Given the description of an element on the screen output the (x, y) to click on. 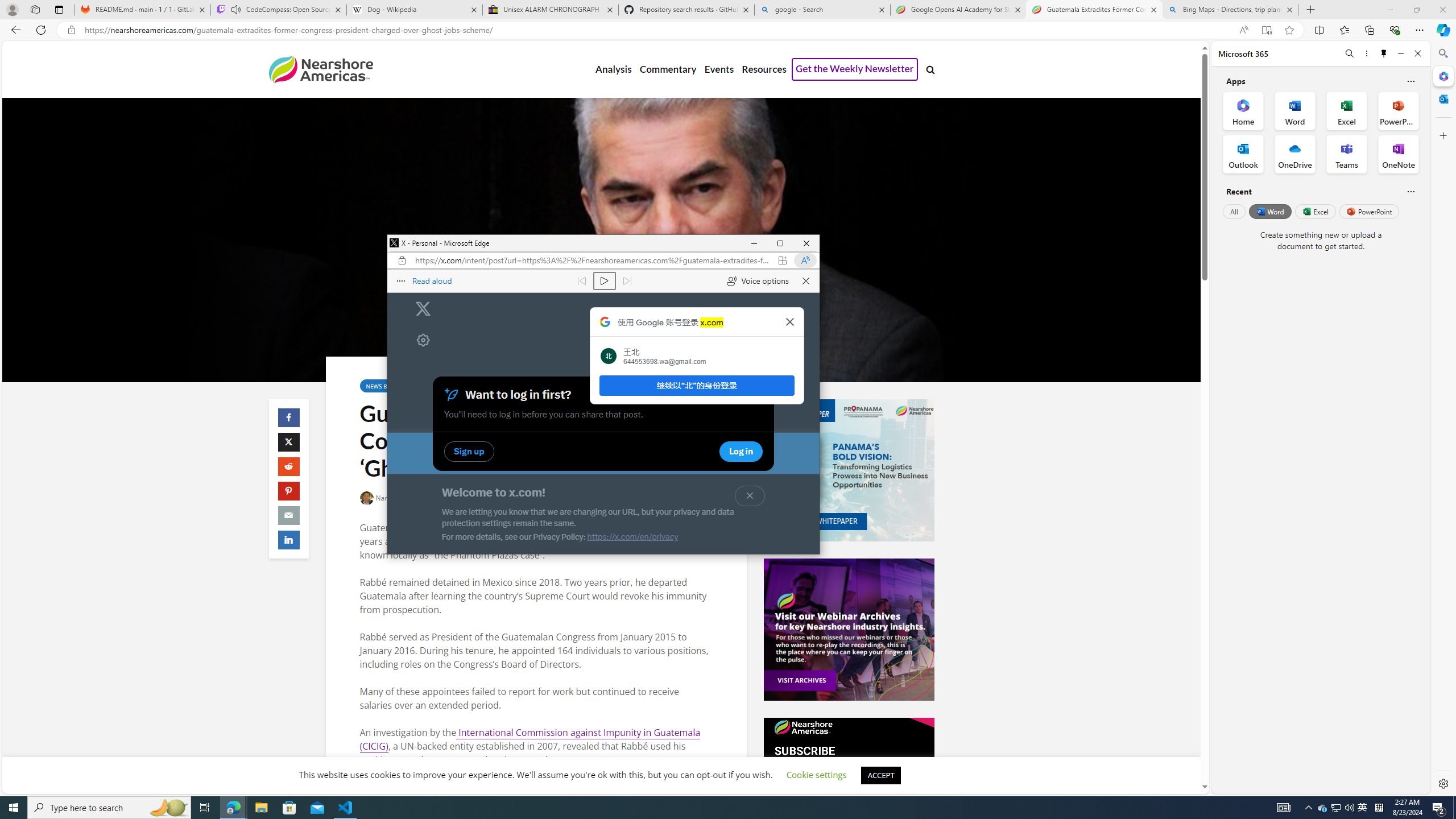
Class: Bz112c Bz112c-r9oPif (789, 321)
Home Office App (1243, 110)
Events (718, 69)
Nearshore Americas (319, 68)
Word Office App (1295, 110)
Voice options (757, 280)
